Given the description of an element on the screen output the (x, y) to click on. 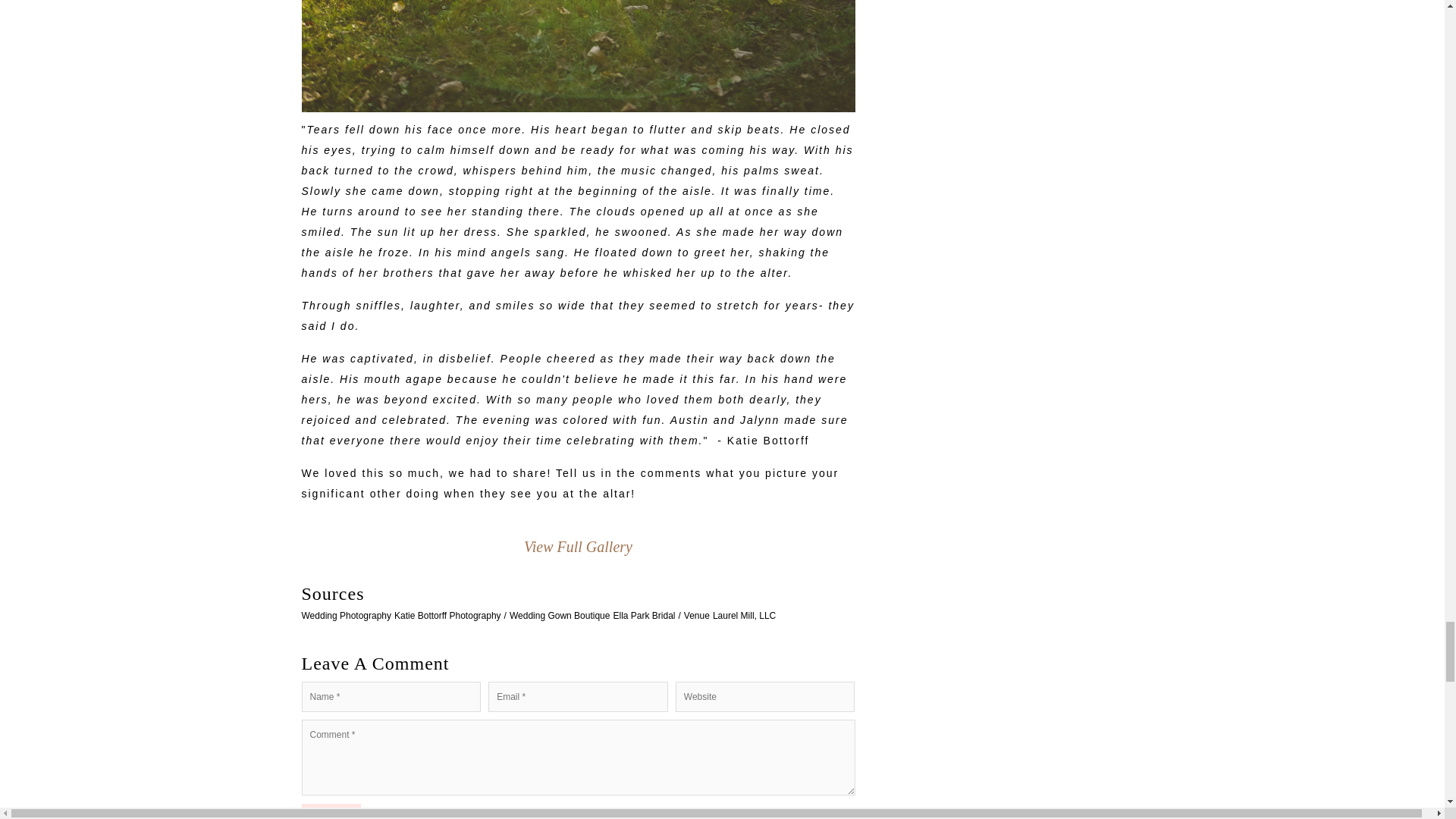
Ella Park Bridal (643, 615)
Katie Bottorff Photography (447, 615)
View Full Gallery (577, 546)
SUBMIT (331, 811)
Laurel Mill, LLC (744, 615)
